Given the description of an element on the screen output the (x, y) to click on. 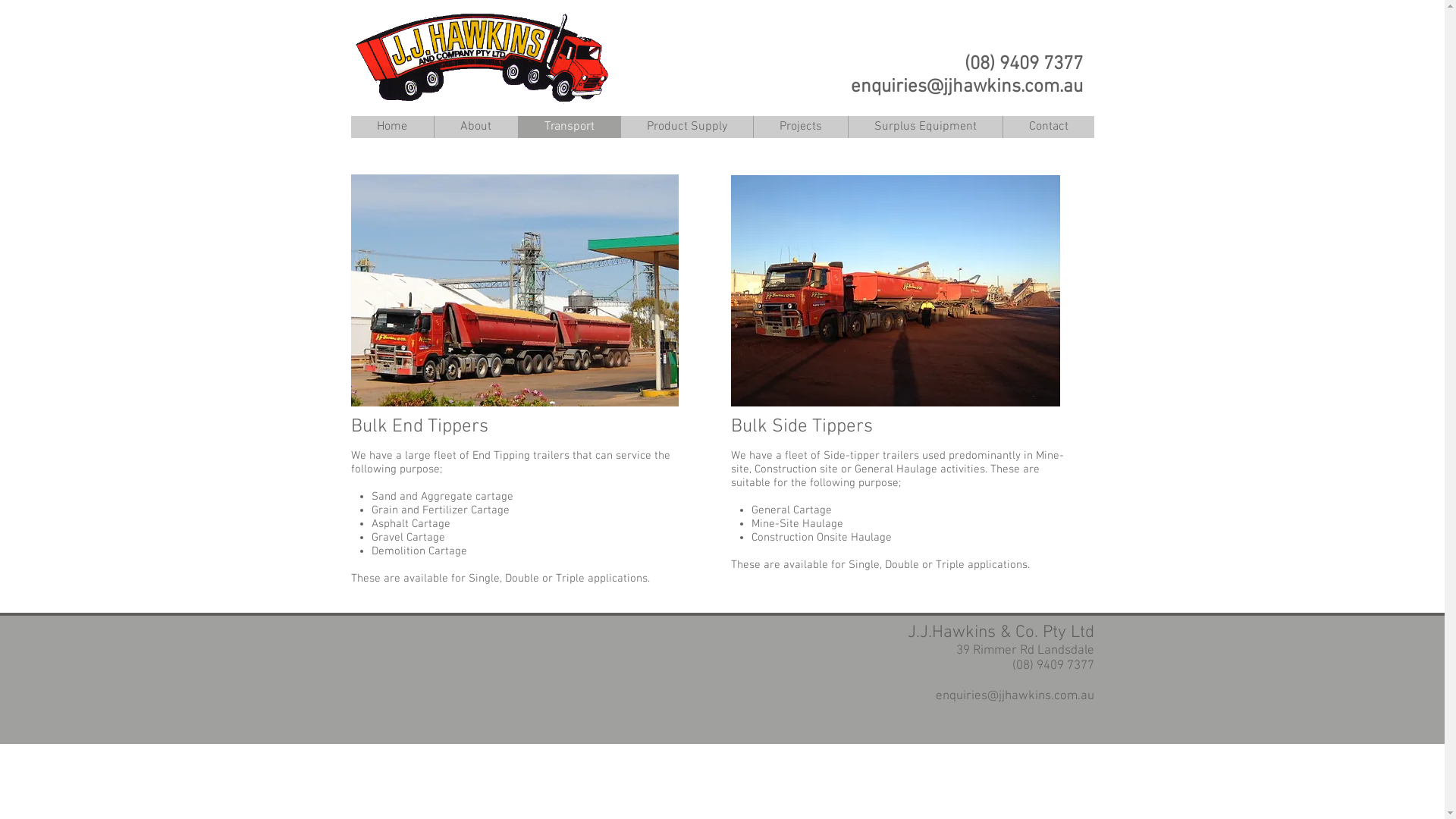
Surplus Equipment Element type: text (924, 127)
Transport Element type: text (568, 127)
enquiries@jjhawkins.com.au Element type: text (966, 86)
Contact Element type: text (1048, 127)
enquiries@jjhawkins.com.au Element type: text (1014, 695)
Home Element type: text (391, 127)
Product Supply Element type: text (686, 127)
About Element type: text (475, 127)
Projects Element type: text (799, 127)
